Given the description of an element on the screen output the (x, y) to click on. 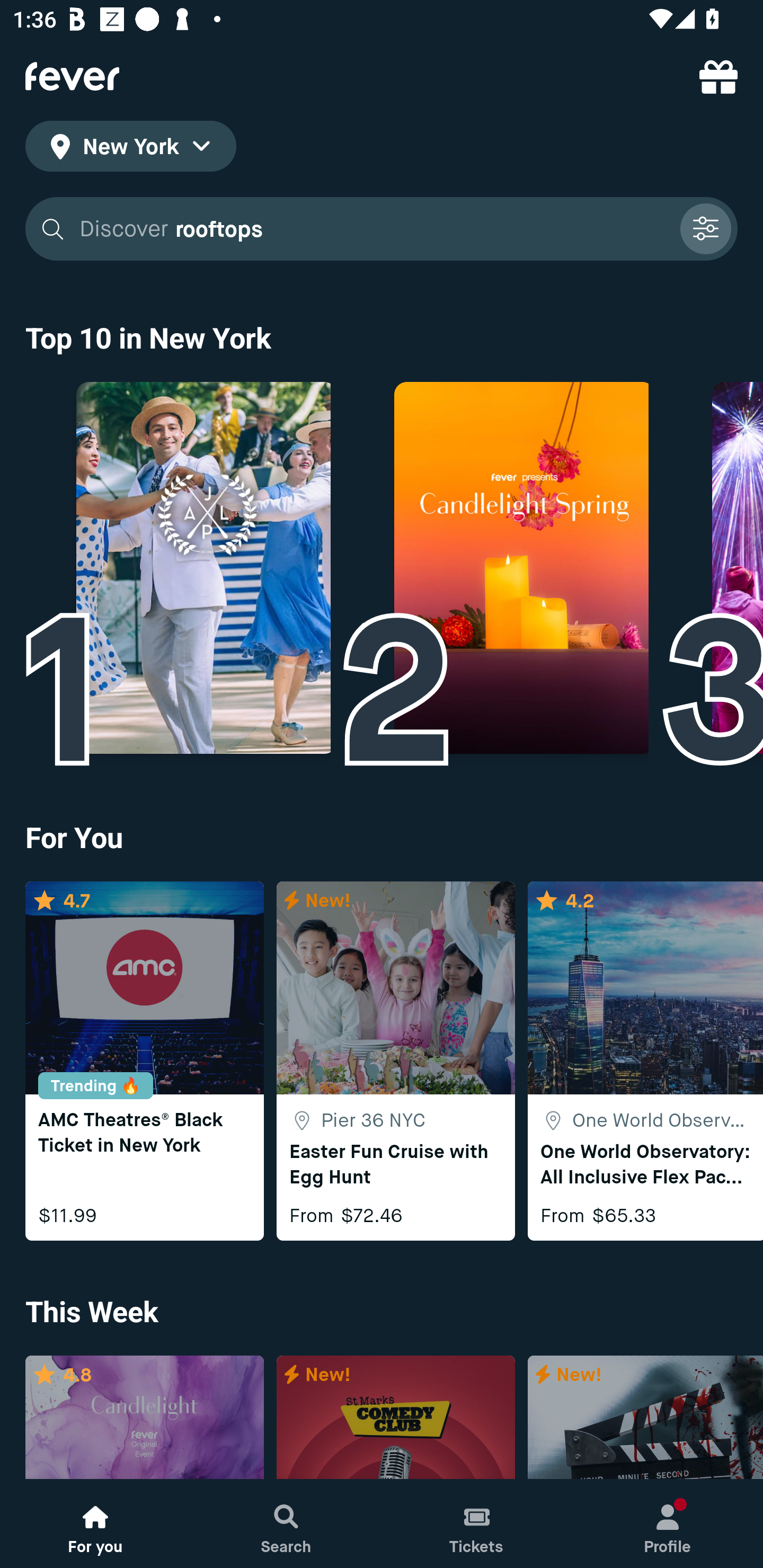
referral (718, 75)
location icon New York location icon (130, 149)
Discover rooftops (381, 228)
Discover rooftops (373, 228)
cover image 50.0 4.8 Fever exclusive (144, 1417)
cover image New! label New! Fever exclusive (395, 1417)
cover image New! label New! (645, 1417)
Search (285, 1523)
Tickets (476, 1523)
Profile, New notification Profile (667, 1523)
